Given the description of an element on the screen output the (x, y) to click on. 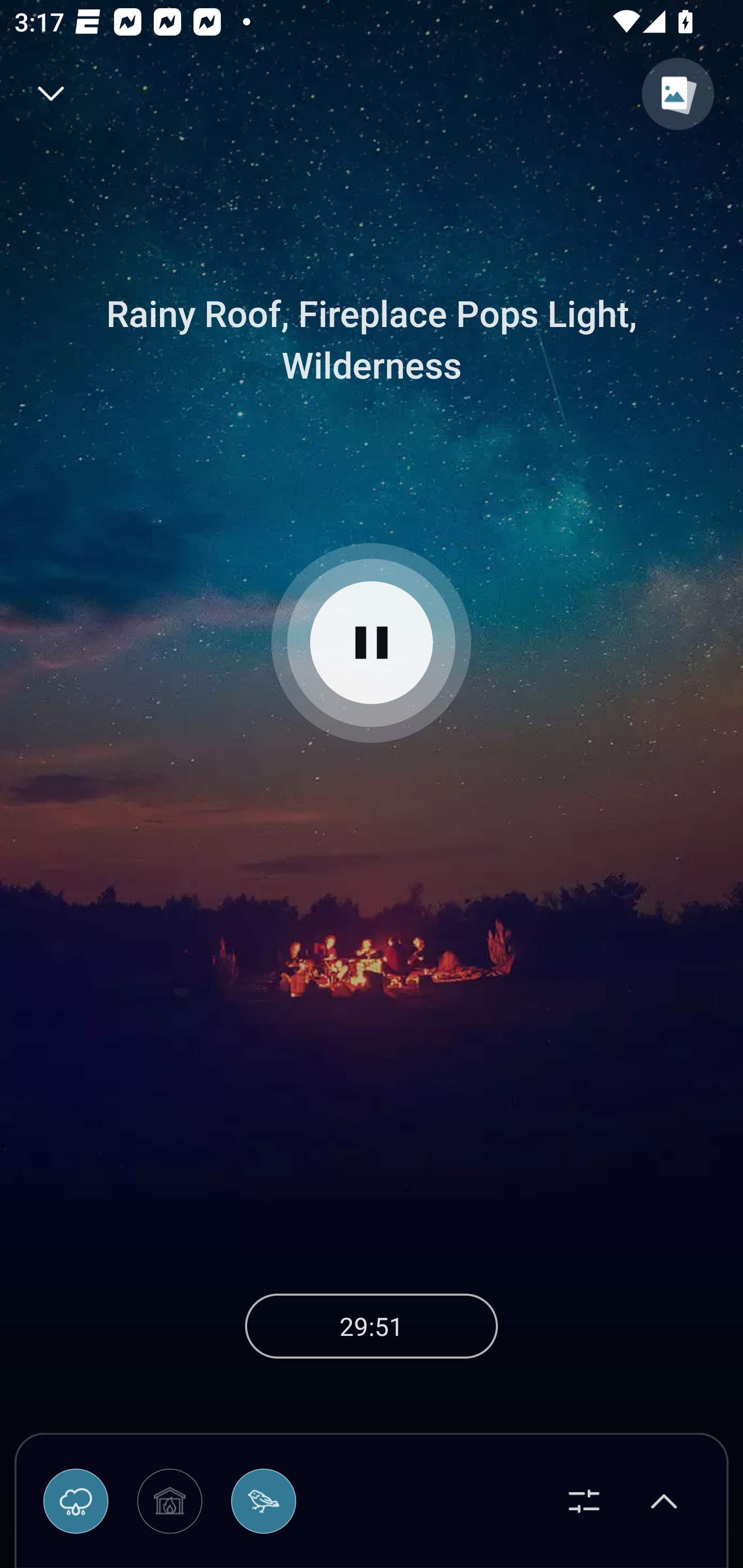
29:51 (371, 1325)
